Given the description of an element on the screen output the (x, y) to click on. 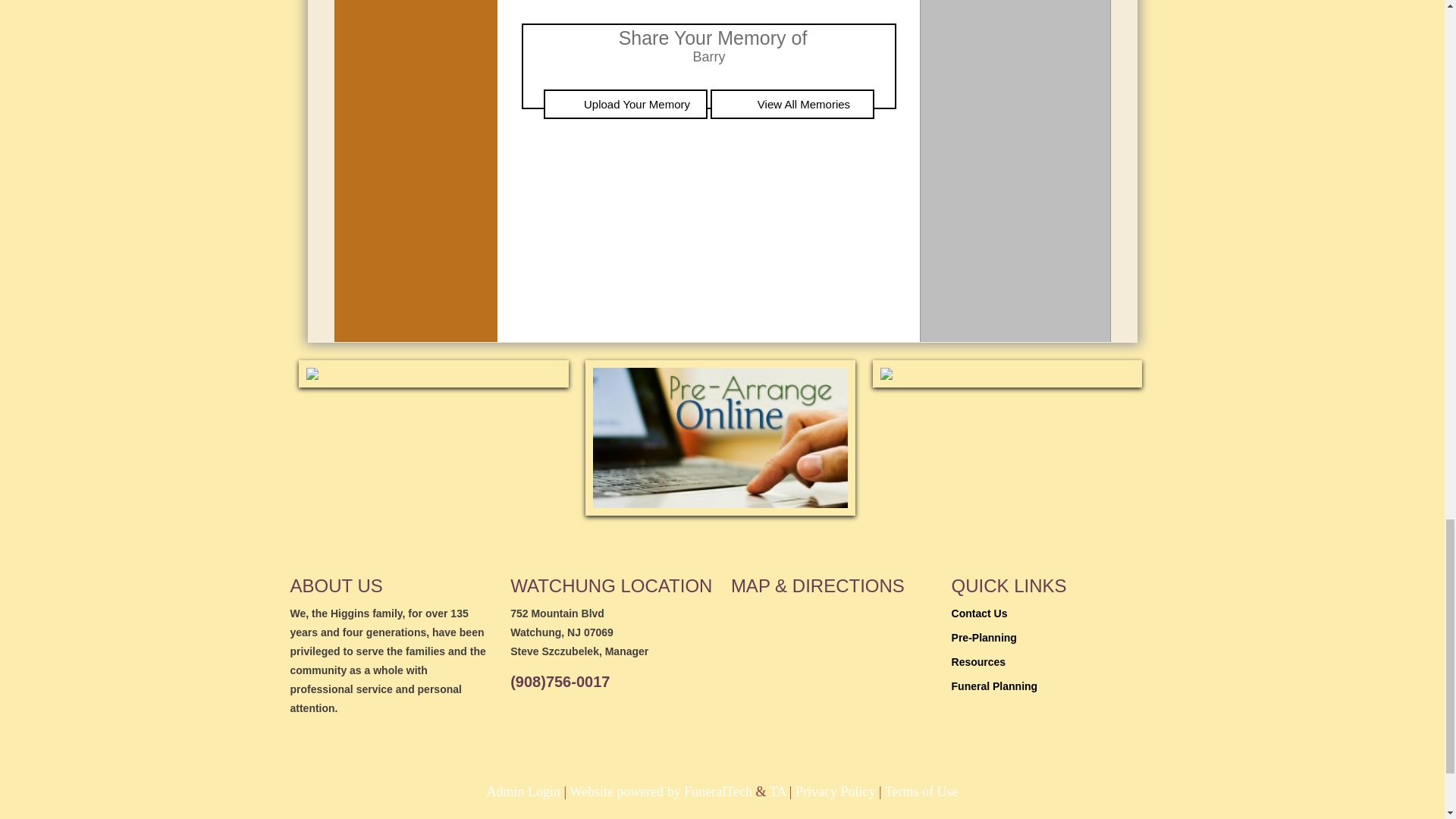
View All Memories (792, 103)
Contact Us (979, 613)
Pre-Planning (984, 637)
Upload Your Memory (625, 103)
